Given the description of an element on the screen output the (x, y) to click on. 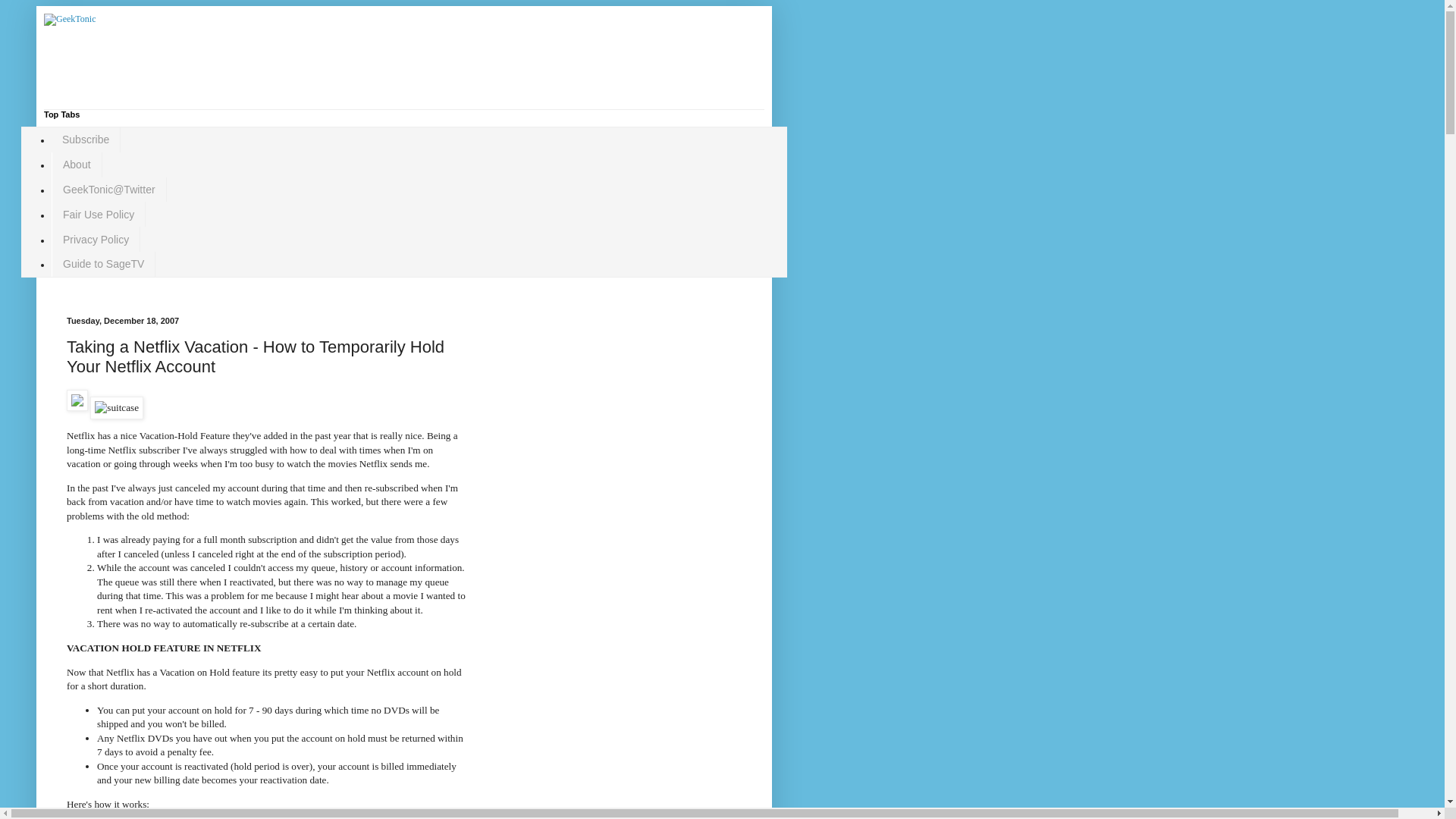
Privacy Policy (94, 238)
Guide to SageTV (102, 263)
Subscribe (85, 139)
Fair Use Policy (97, 213)
About (75, 164)
